Given the description of an element on the screen output the (x, y) to click on. 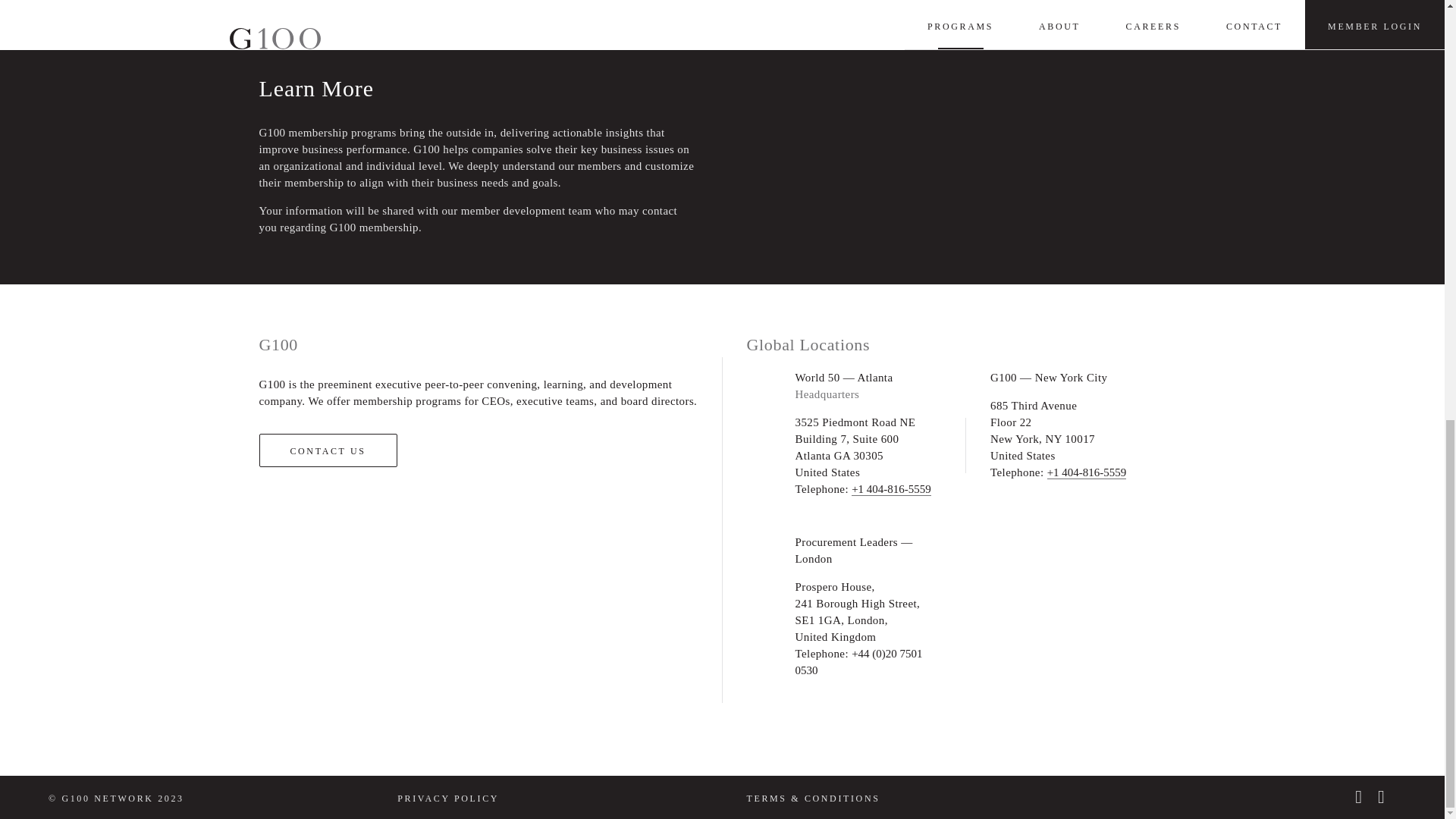
LINKEDIN (1364, 798)
PRIVACY POLICY (448, 798)
TWITTER (1386, 798)
CONTACT US (328, 450)
